Given the description of an element on the screen output the (x, y) to click on. 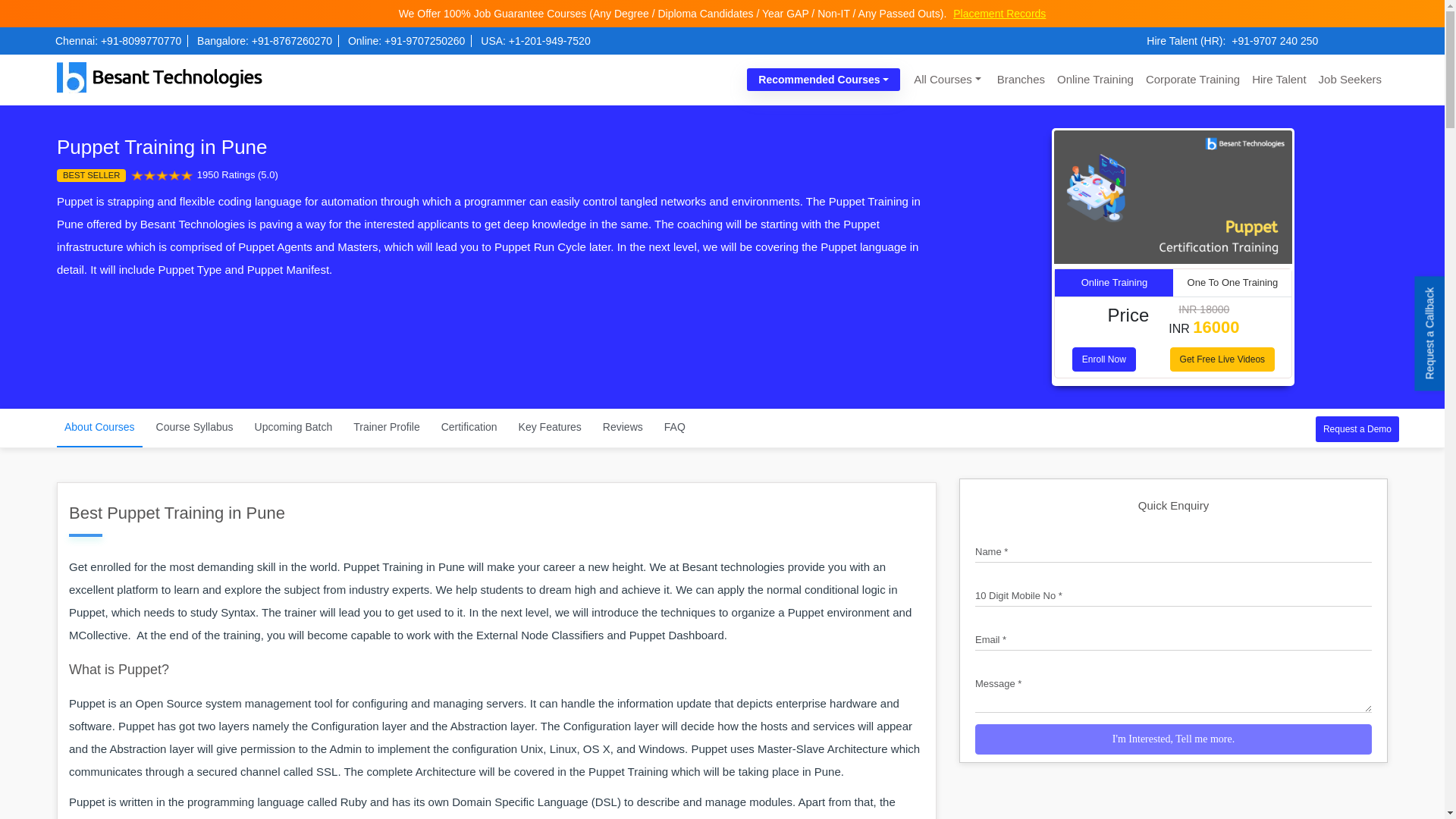
Request a Demo (1357, 428)
Recommended Courses (822, 78)
Training Courses (947, 79)
All Courses (947, 79)
I'm Interested, Tell me more. (1173, 738)
Recommended Courses (822, 78)
Placement Records (999, 13)
Placements (999, 13)
